Given the description of an element on the screen output the (x, y) to click on. 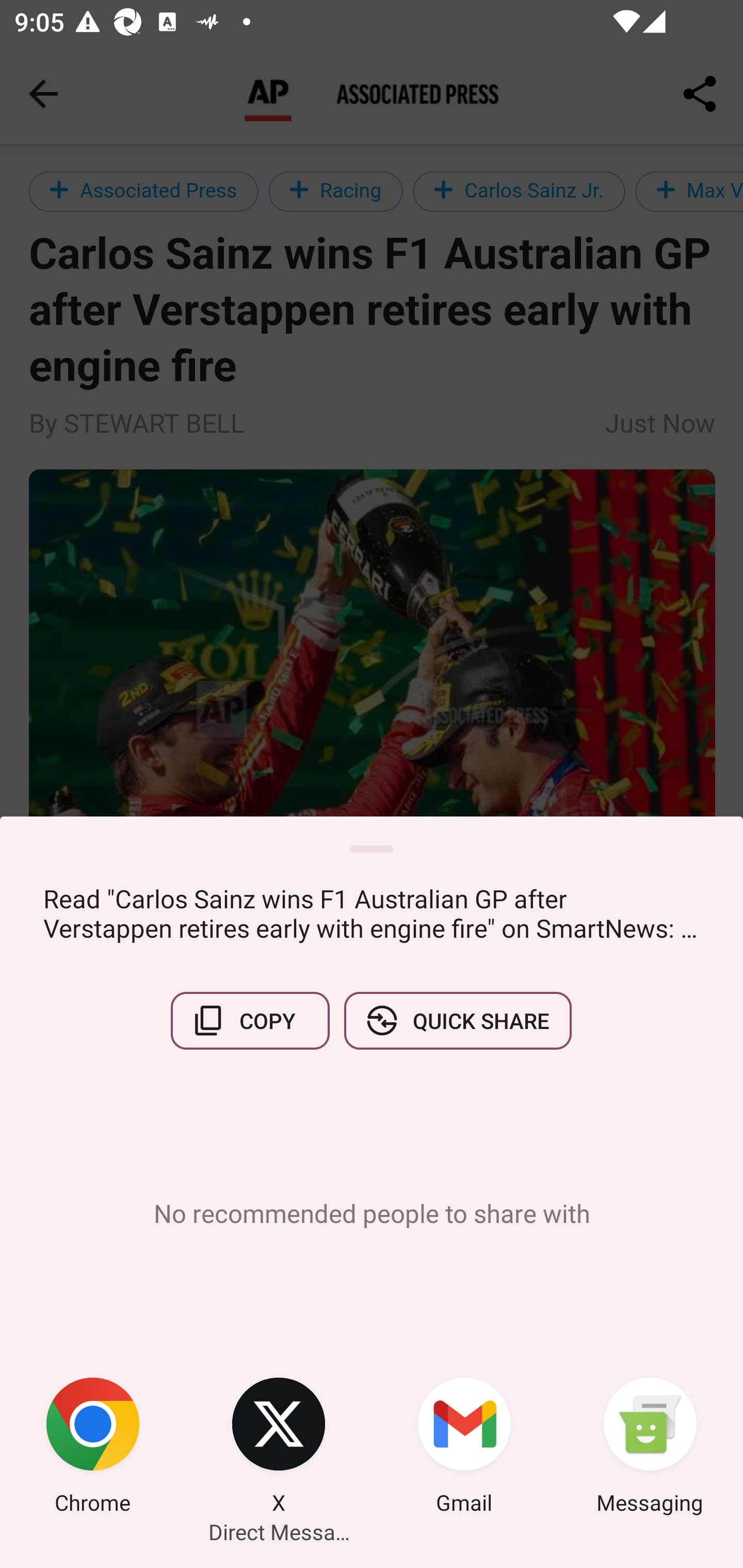
COPY (249, 1020)
QUICK SHARE (457, 1020)
Chrome (92, 1448)
X Direct Message (278, 1448)
Gmail (464, 1448)
Messaging (650, 1448)
